Given the description of an element on the screen output the (x, y) to click on. 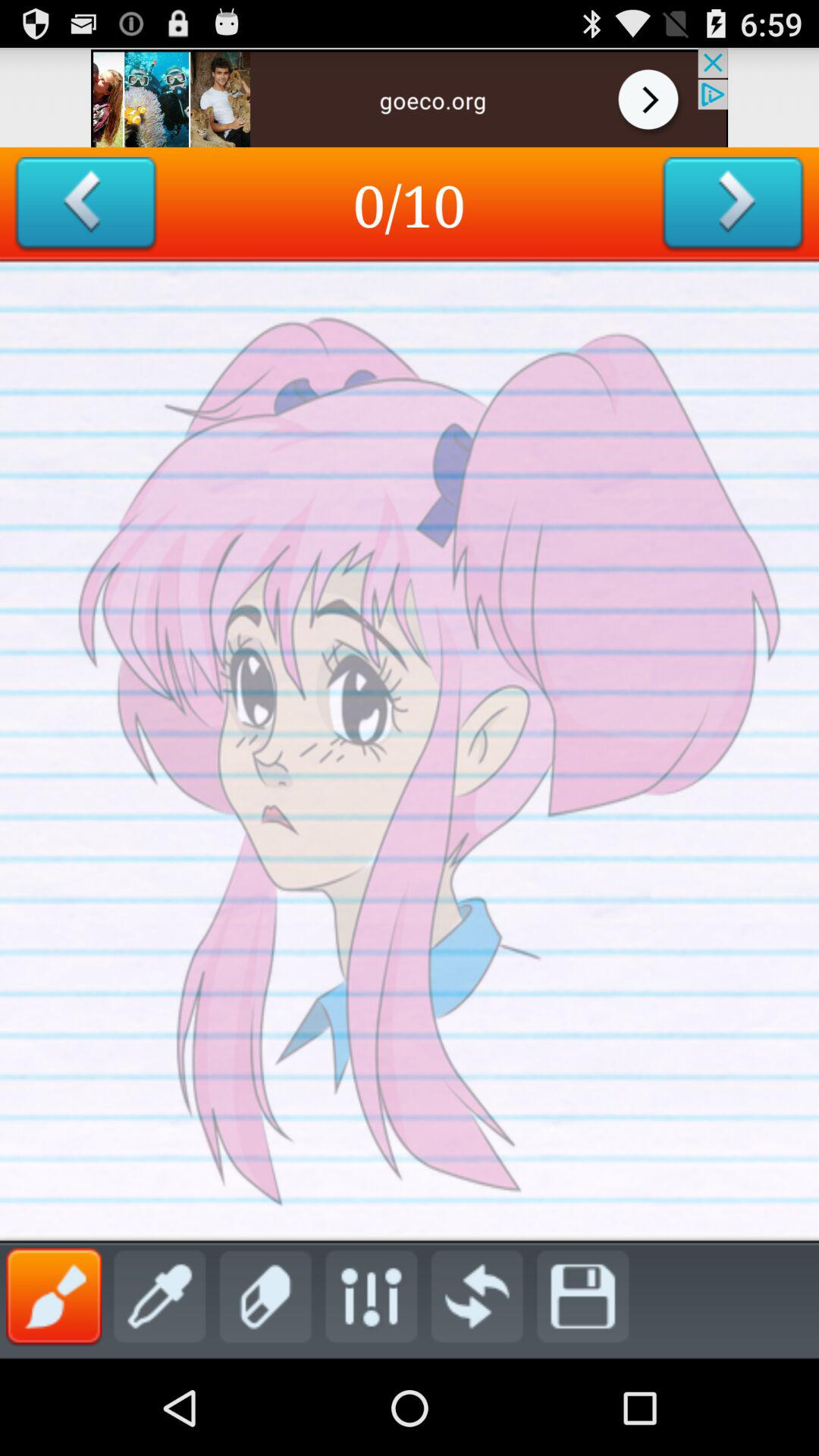
bake vete (85, 204)
